Given the description of an element on the screen output the (x, y) to click on. 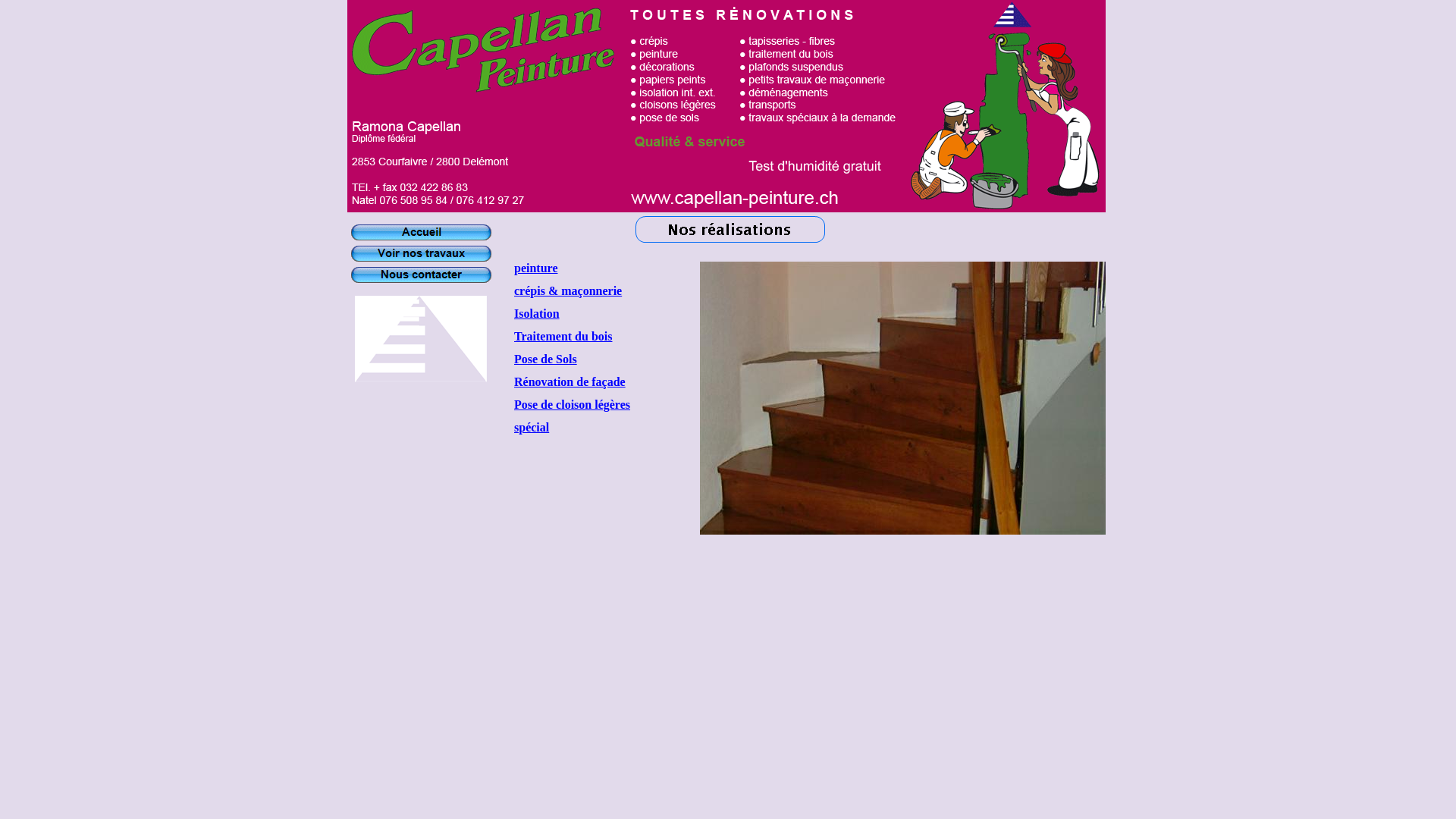
Voir nos travaux Element type: hover (421, 253)
Accueil Element type: hover (421, 232)
Isolation Element type: text (536, 313)
peinture Element type: text (535, 267)
Pose de Sols Element type: text (545, 358)
Traitement du bois Element type: text (562, 335)
Nous contacter Element type: hover (421, 274)
